Given the description of an element on the screen output the (x, y) to click on. 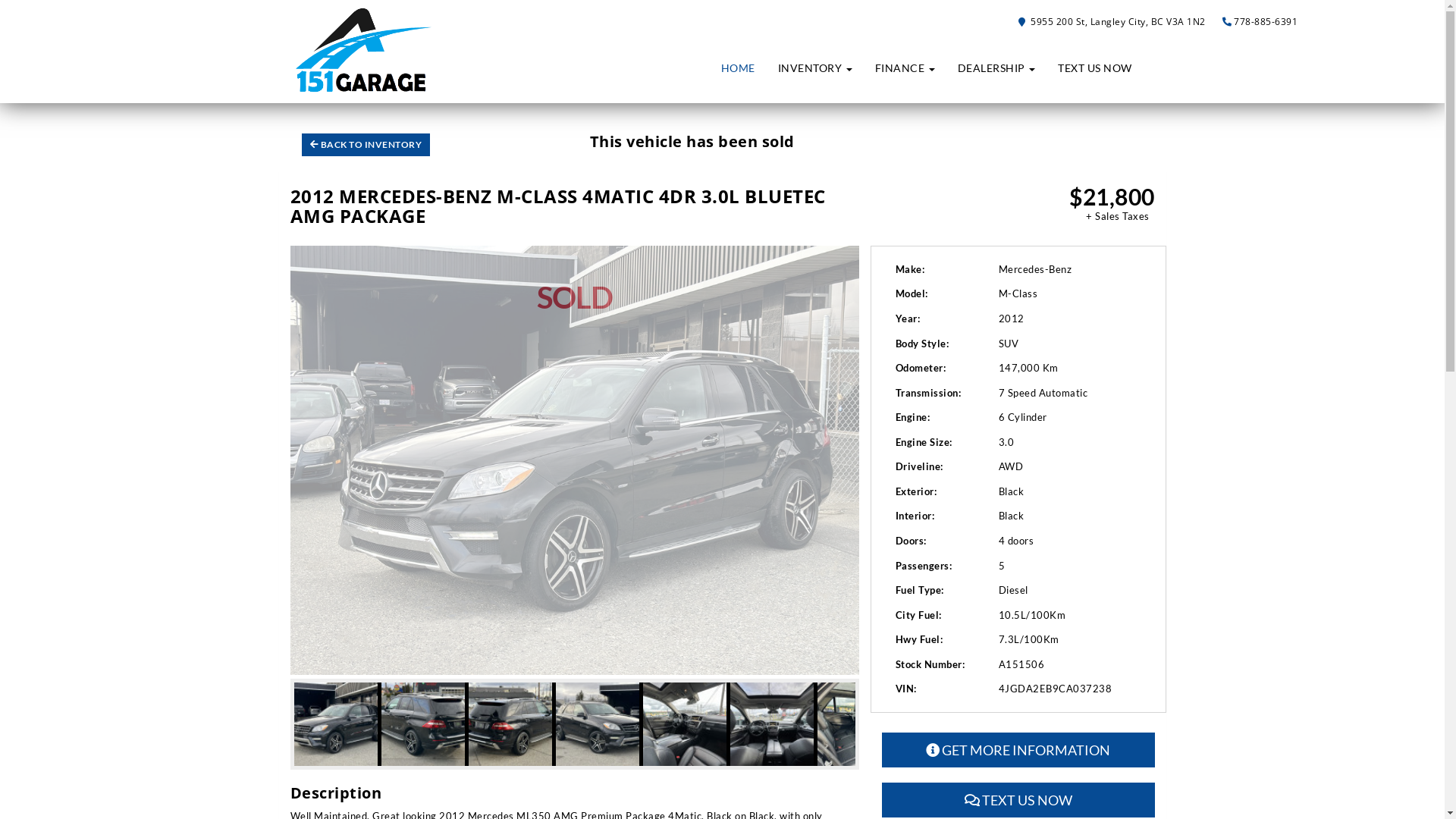
778-885-6391 Element type: text (1265, 21)
HOME Element type: text (737, 68)
 TEXT US NOW Element type: text (1017, 799)
TEXT US NOW Element type: text (1094, 68)
 GET MORE INFORMATION Element type: text (1017, 749)
  5955 200 St, Langley City, BC V3A 1N2 Element type: text (1112, 21)
 BACK TO INVENTORY Element type: text (365, 144)
INVENTORY Element type: text (813, 68)
FINANCE Element type: text (903, 68)
DEALERSHIP Element type: text (996, 68)
